Given the description of an element on the screen output the (x, y) to click on. 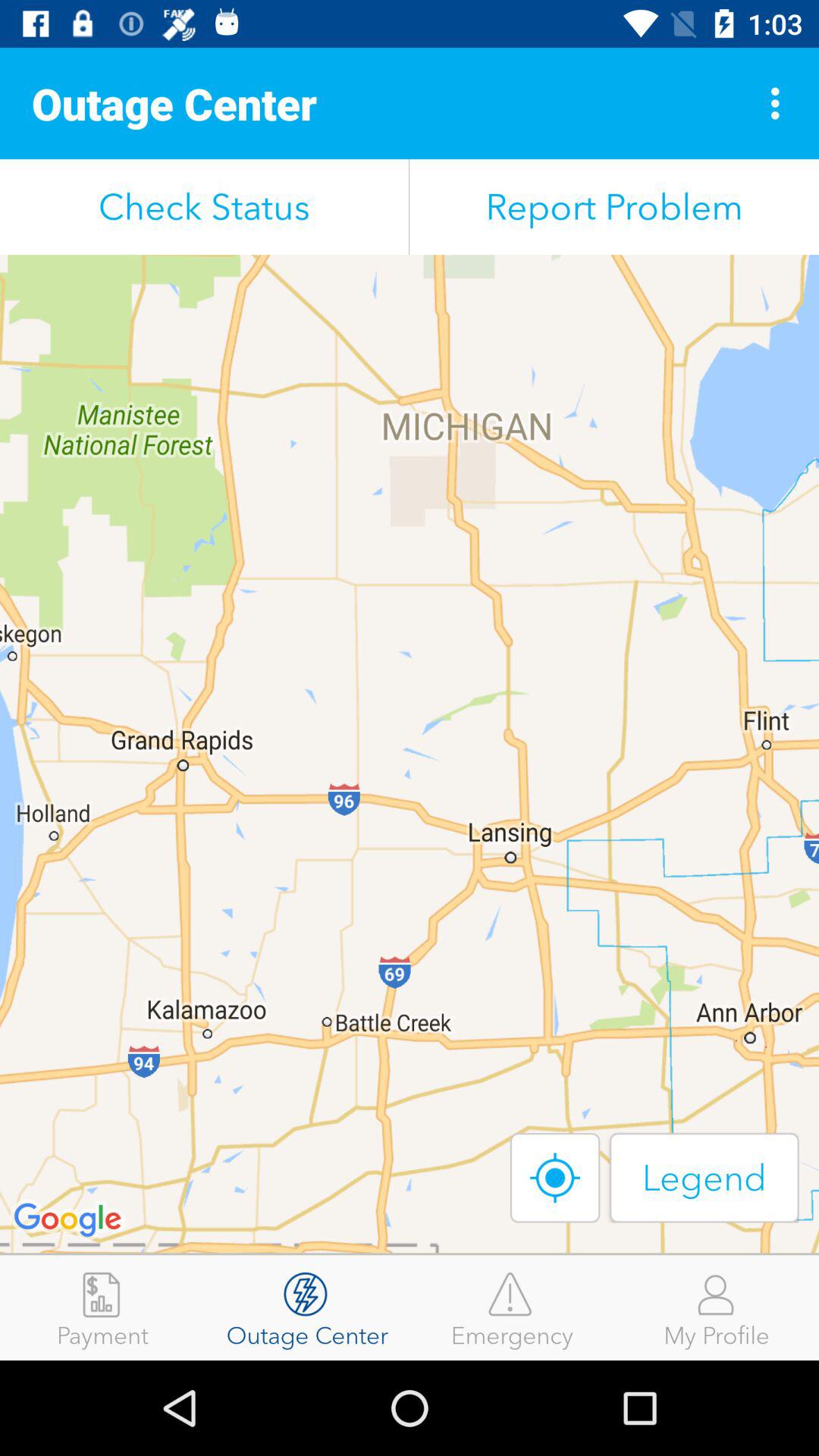
jump until emergency item (511, 1307)
